Given the description of an element on the screen output the (x, y) to click on. 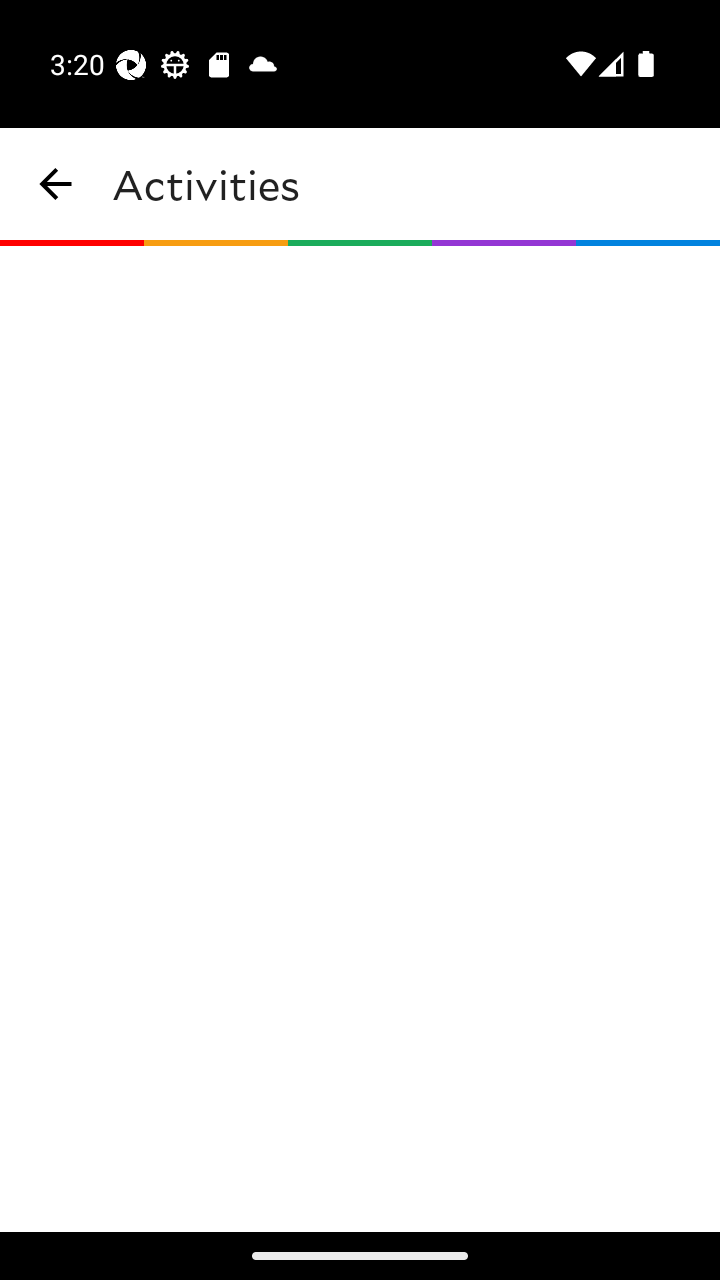
navigation_button (56, 184)
